Given the description of an element on the screen output the (x, y) to click on. 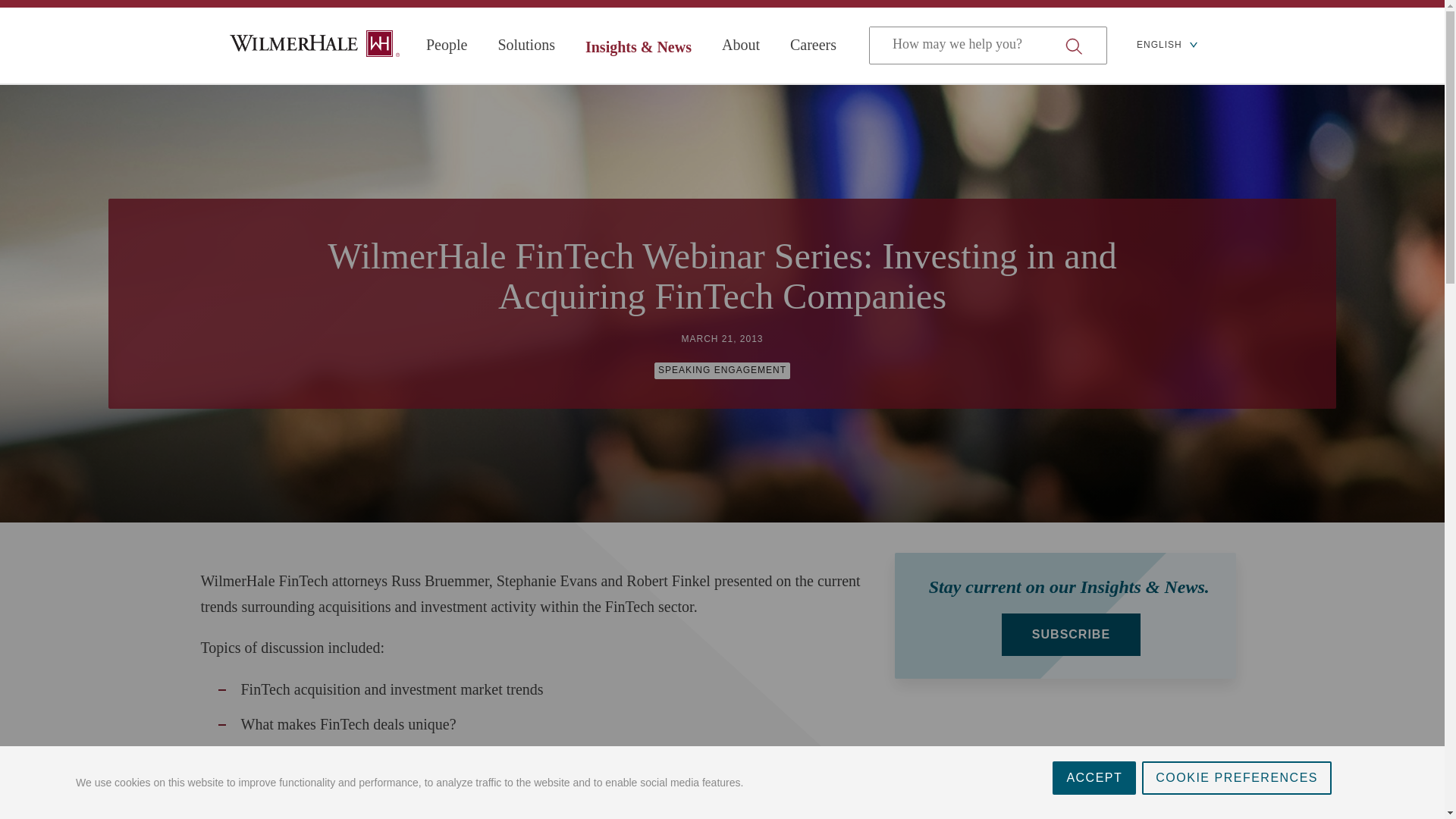
People (446, 45)
Solutions (525, 45)
Careers (812, 45)
COOKIE PREFERENCES (1236, 811)
ENGLISH (1166, 45)
About (741, 45)
